Given the description of an element on the screen output the (x, y) to click on. 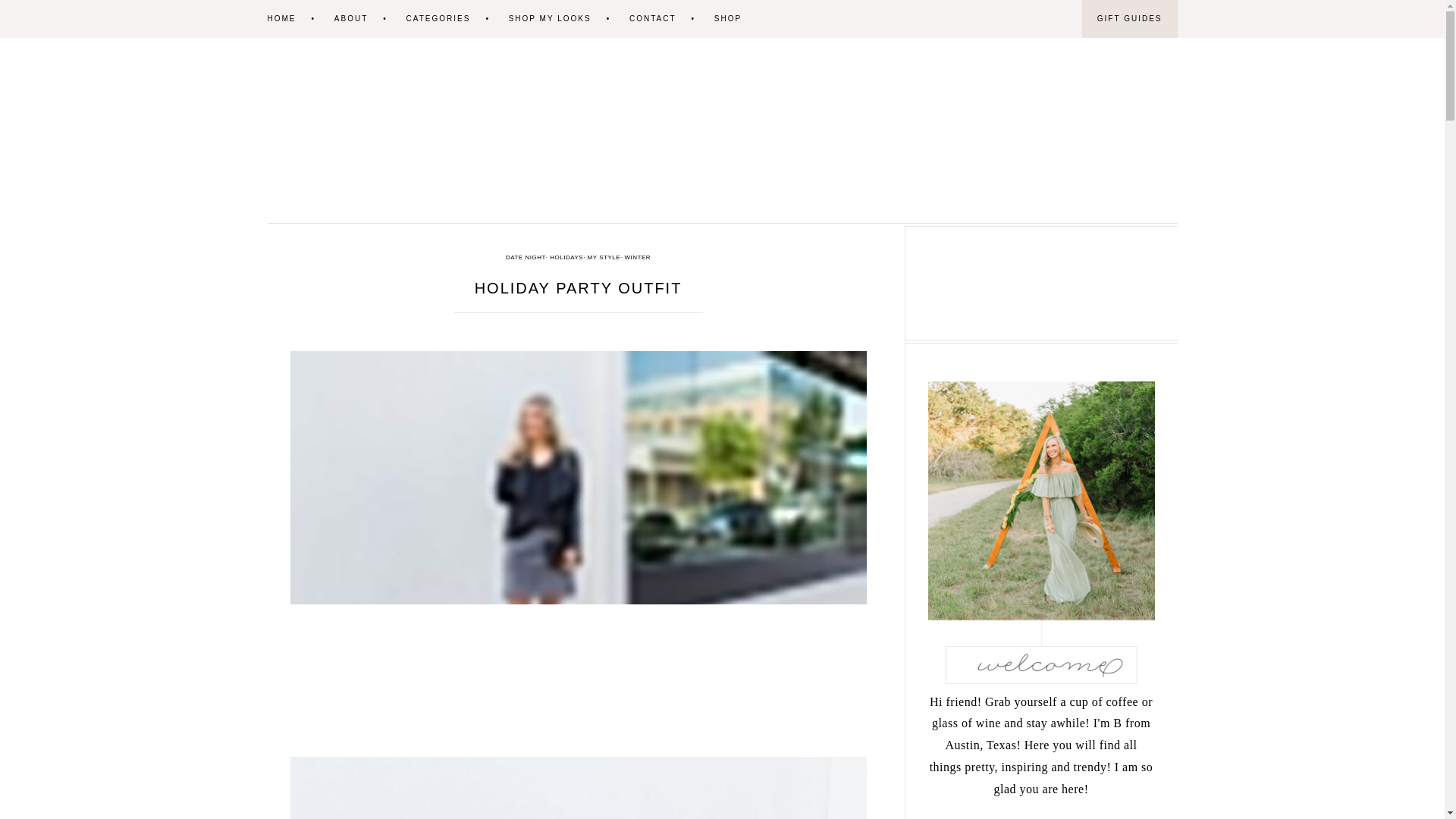
ABOUT (368, 18)
GIFT GUIDES (1129, 18)
DATE NIGHT (525, 257)
CONTACT (669, 18)
CATEGORIES (455, 18)
HOLIDAYS (566, 257)
SHOP MY LOOKS (567, 18)
HOME (298, 18)
WINTER (637, 257)
MY STYLE (604, 257)
